Given the description of an element on the screen output the (x, y) to click on. 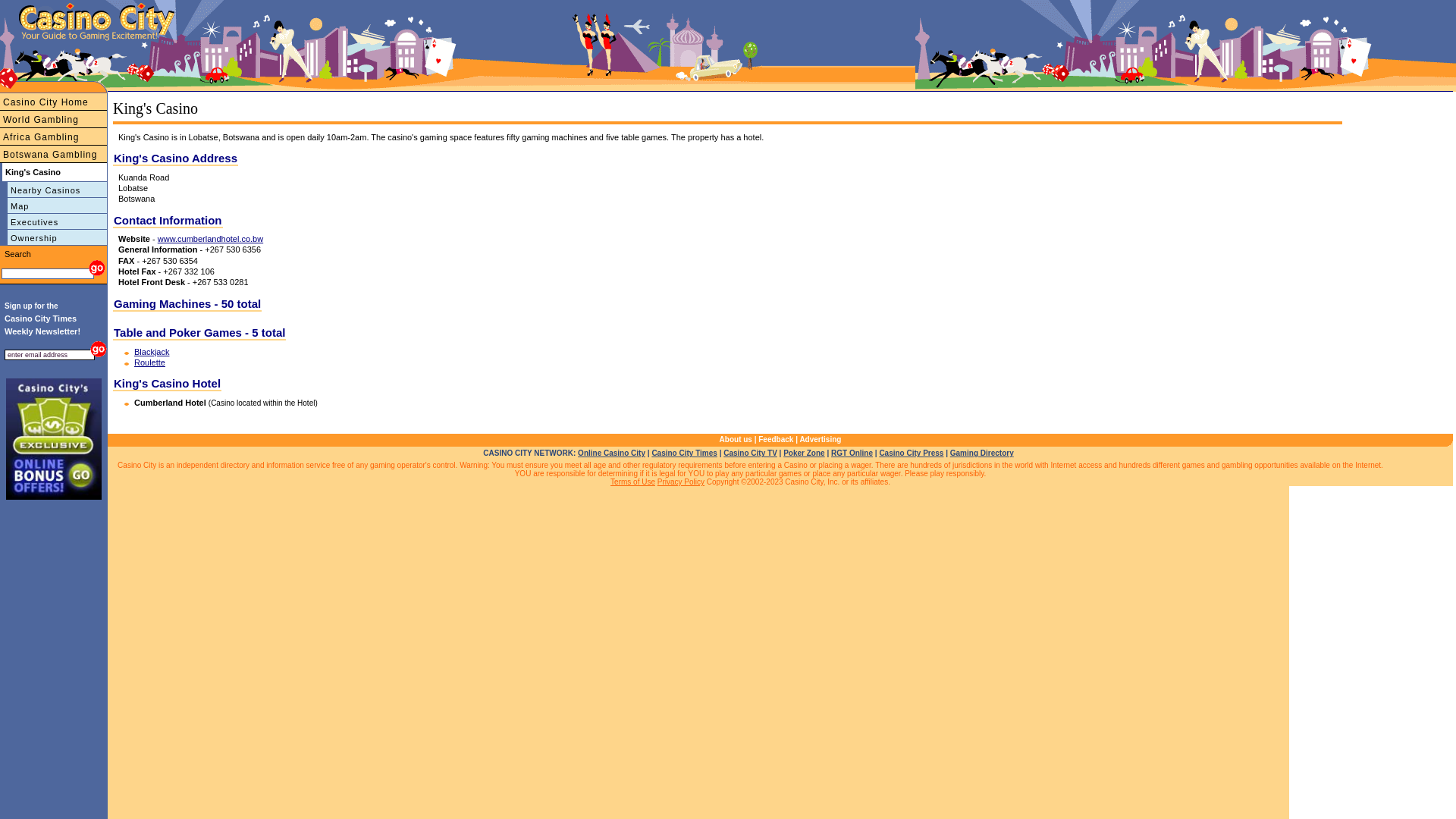
Casino City Press Element type: text (910, 452)
Poker Zone Element type: text (803, 452)
Ownership Element type: text (53, 237)
Privacy Policy Element type: text (680, 481)
enter email address Element type: text (49, 354)
Map Element type: text (67, 4)
Roulette Element type: text (149, 362)
Casino City Home Element type: text (53, 101)
Gaming Directory Element type: text (981, 452)
Executives Element type: text (53, 221)
Feedback Element type: text (775, 439)
Nearby Casinos Element type: text (29, 4)
Casino City TV Element type: text (750, 452)
RGT Online Element type: text (851, 452)
Botswana Gambling Element type: text (53, 154)
Map Element type: text (53, 205)
Advertising Element type: text (819, 439)
Blackjack Element type: text (151, 351)
www.cumberlandhotel.co.bw Element type: text (210, 238)
Search Botswana Casinos, including King's Casino Element type: hover (95, 268)
About us Element type: text (735, 439)
Ownership Element type: text (136, 4)
World Gambling Element type: text (53, 119)
Africa Gambling Element type: text (53, 136)
Online Casino City Element type: text (611, 452)
Terms of Use Element type: text (632, 481)
Nearby Casinos Element type: text (53, 189)
Casino City Times Element type: text (684, 452)
Executives Element type: text (95, 4)
